Given the description of an element on the screen output the (x, y) to click on. 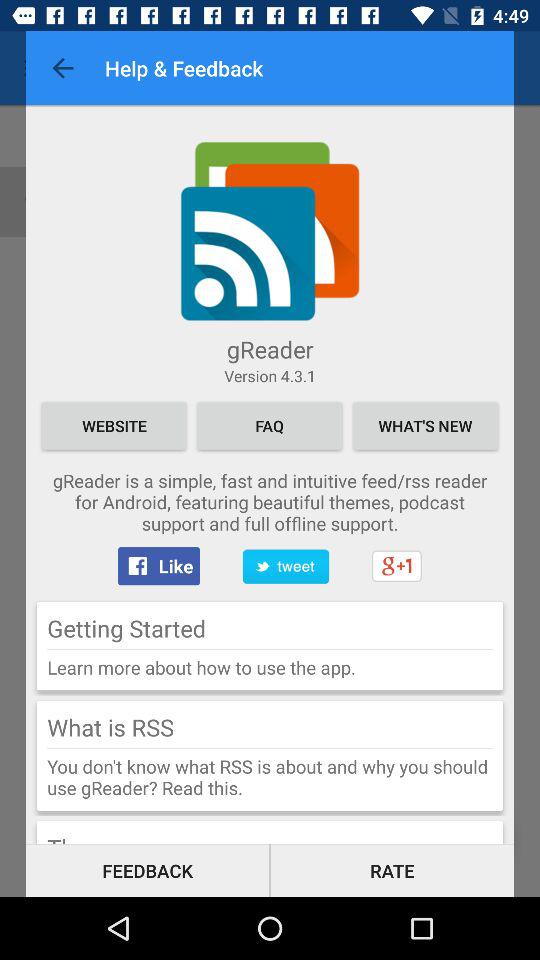
select the item to the right of the website icon (269, 425)
